Given the description of an element on the screen output the (x, y) to click on. 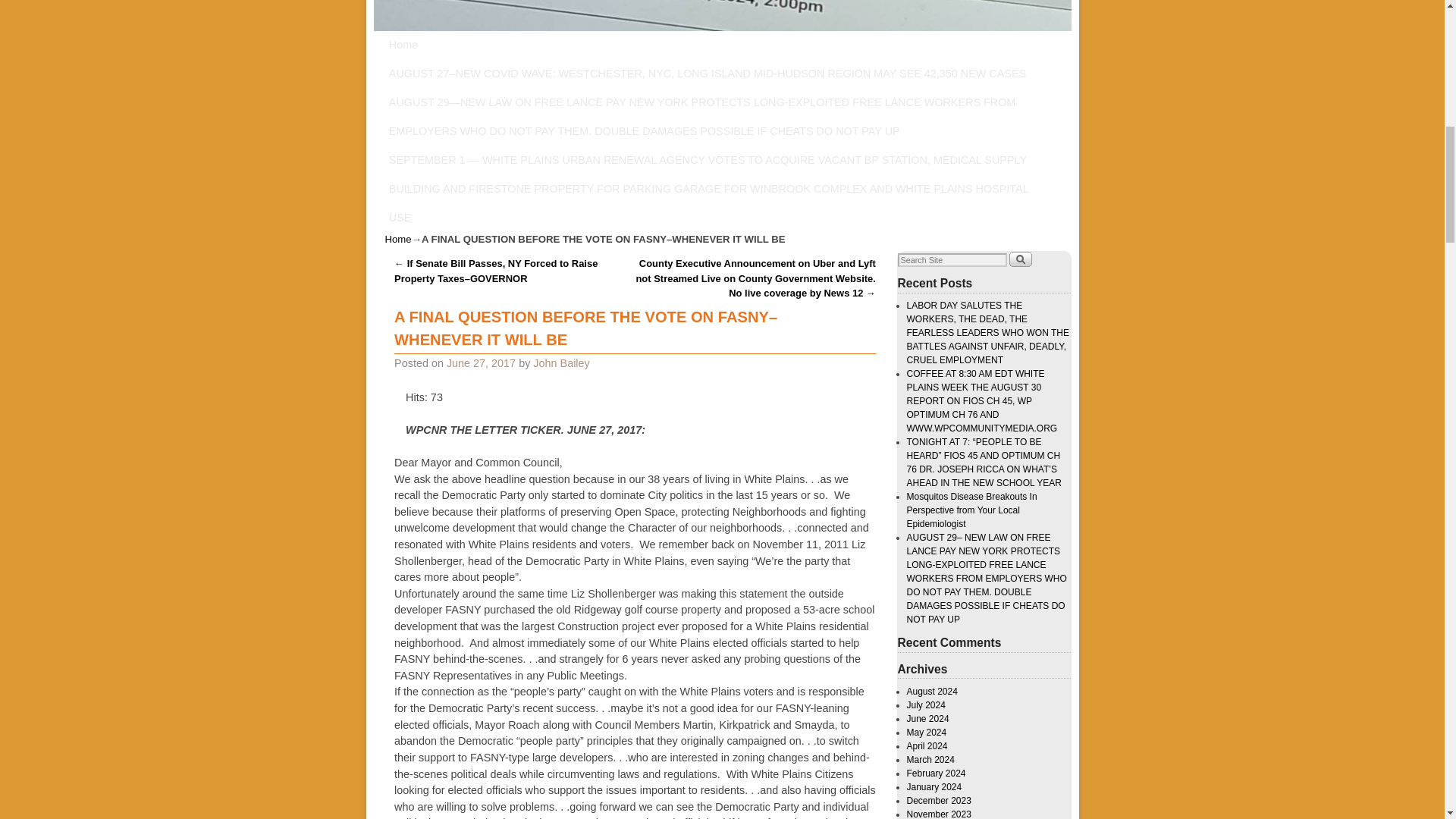
John Bailey (560, 363)
May 2024 (927, 732)
April 2024 (927, 746)
March 2024 (931, 759)
July 2024 (925, 705)
Skip to primary content (453, 44)
January 2024 (934, 787)
View all posts by John Bailey (560, 363)
Home (398, 238)
December 2023 (939, 800)
